Given the description of an element on the screen output the (x, y) to click on. 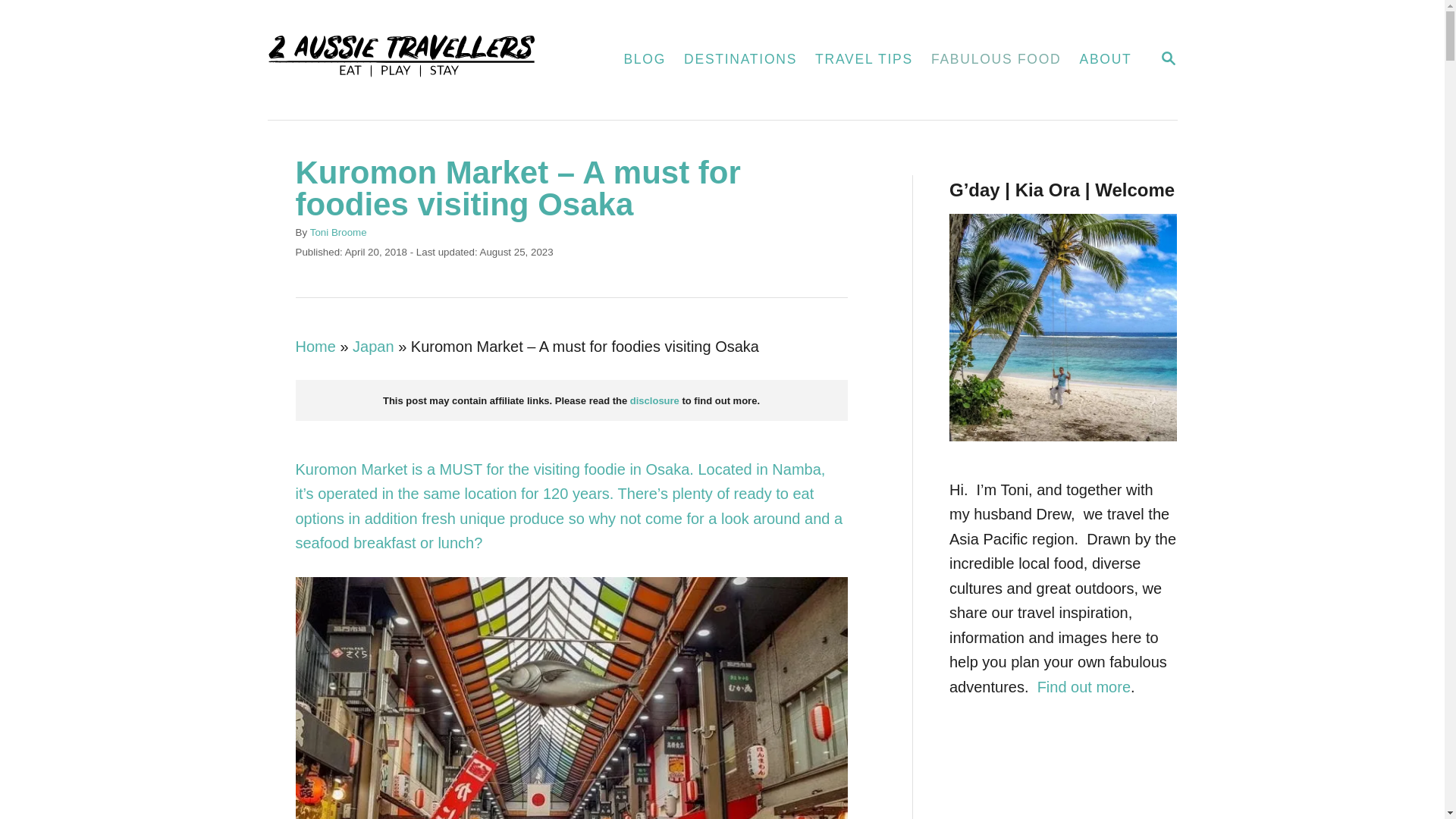
TRAVEL TIPS Element type: text (864, 59)
Japan Element type: text (373, 346)
Toni Broome Element type: text (338, 231)
Find out more Element type: text (1083, 685)
BLOG Element type: text (644, 59)
ABOUT Element type: text (1105, 59)
Search Element type: text (22, 22)
SEARCH
MAGNIFYING GLASS Element type: text (1168, 59)
disclosure Element type: text (656, 400)
FABULOUS FOOD Element type: text (996, 59)
2 Aussie Travellers Element type: hover (410, 59)
Home Element type: text (315, 346)
DESTINATIONS Element type: text (740, 59)
